Given the description of an element on the screen output the (x, y) to click on. 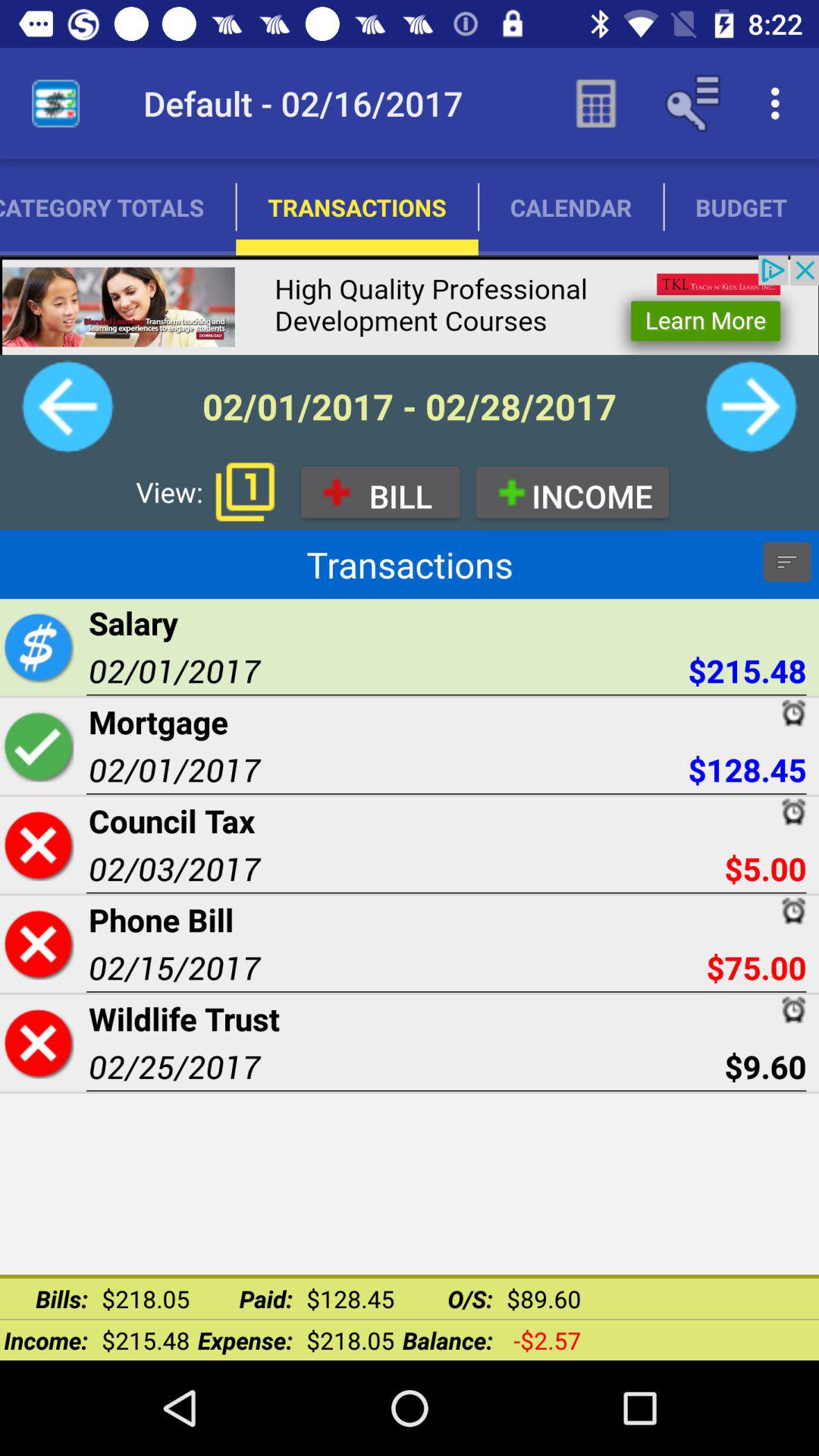
back (67, 406)
